Given the description of an element on the screen output the (x, y) to click on. 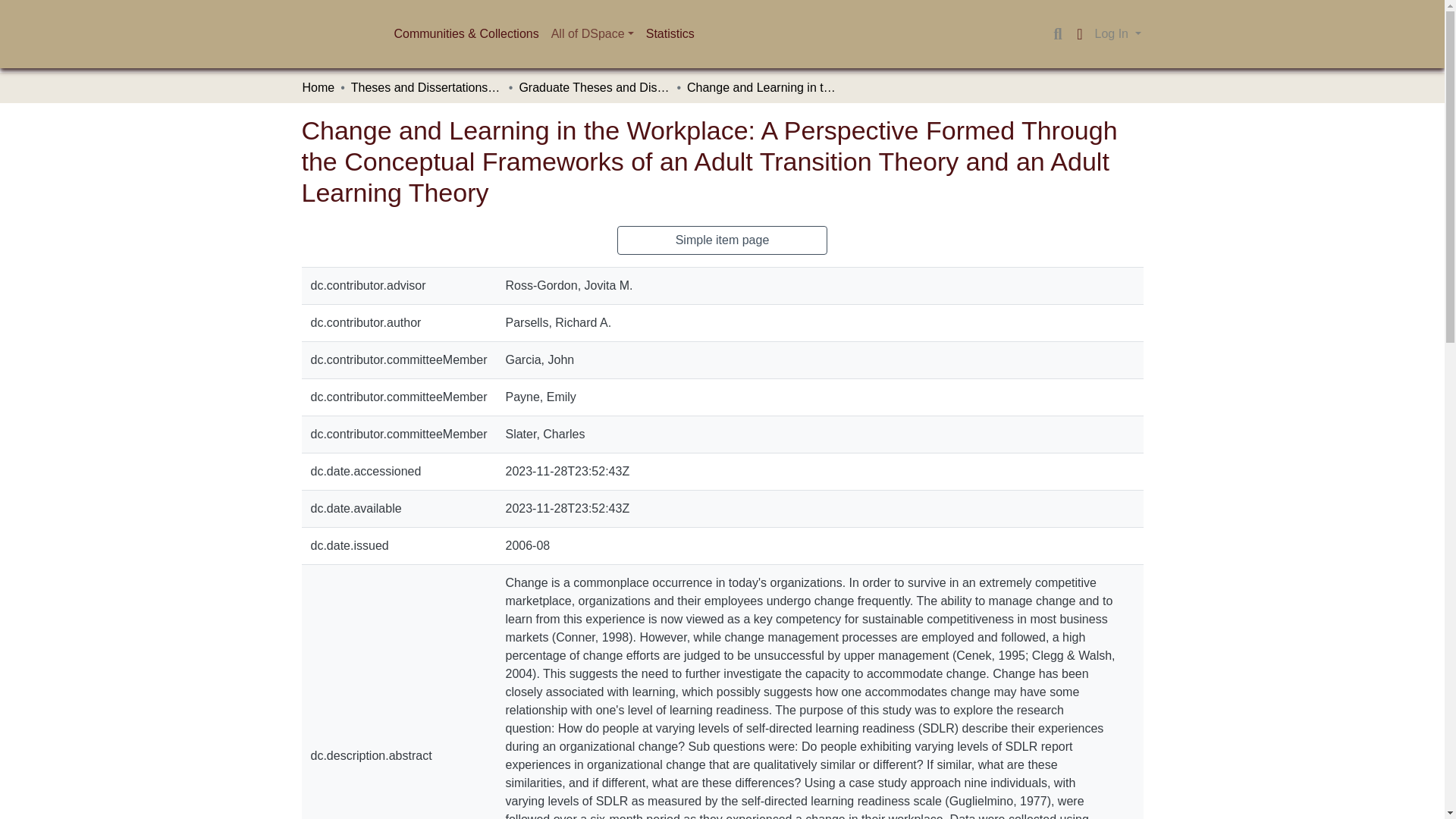
All of DSpace (592, 33)
Log In (1117, 33)
Statistics (670, 33)
Language switch (1079, 34)
Search (1057, 34)
Theses and Dissertations, Capstones, and Directed Research (426, 87)
Graduate Theses and Dissertations (593, 87)
Simple item page (722, 240)
Home (317, 87)
Statistics (670, 33)
